Given the description of an element on the screen output the (x, y) to click on. 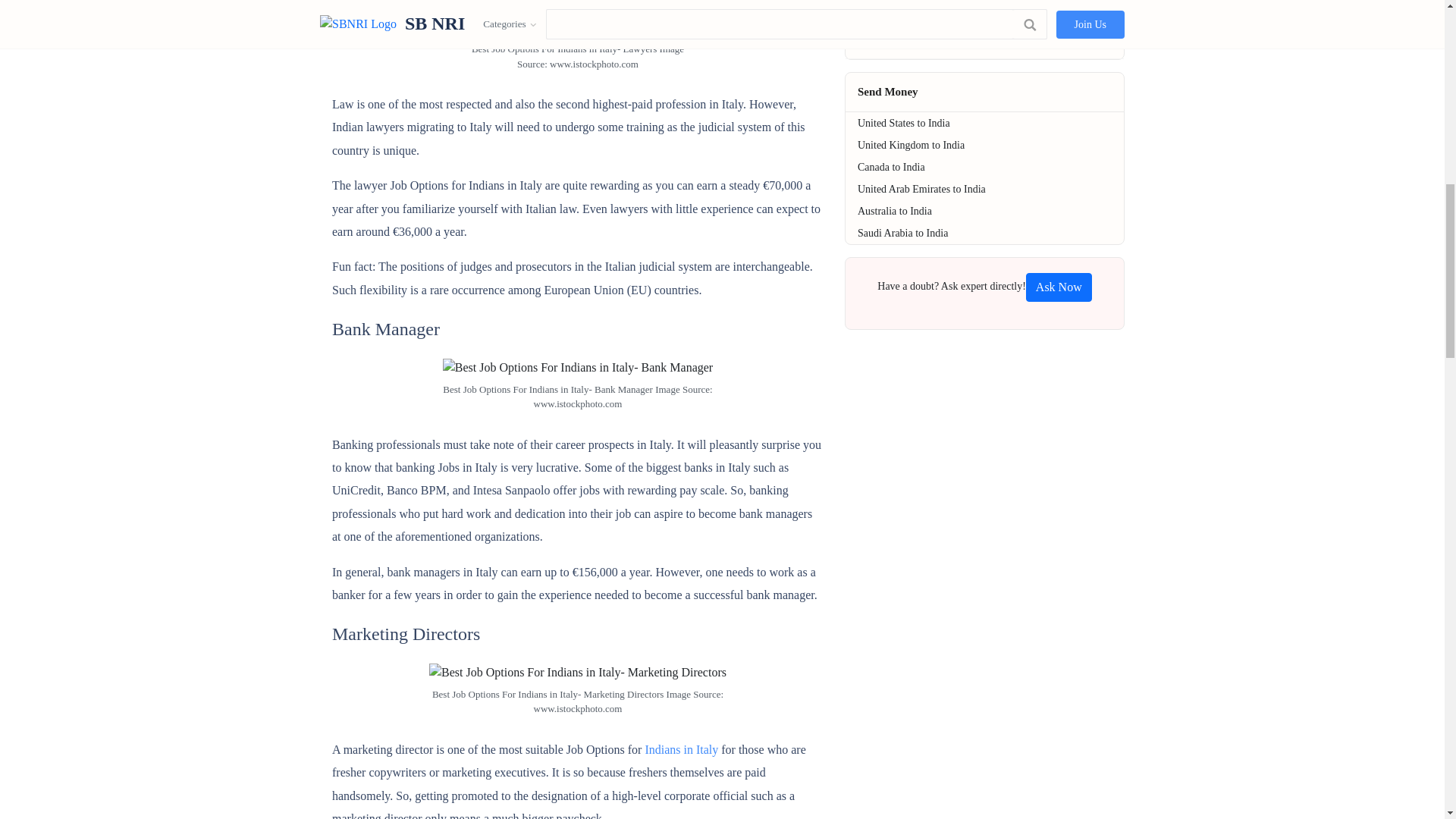
SBNRI (1059, 287)
